Given the description of an element on the screen output the (x, y) to click on. 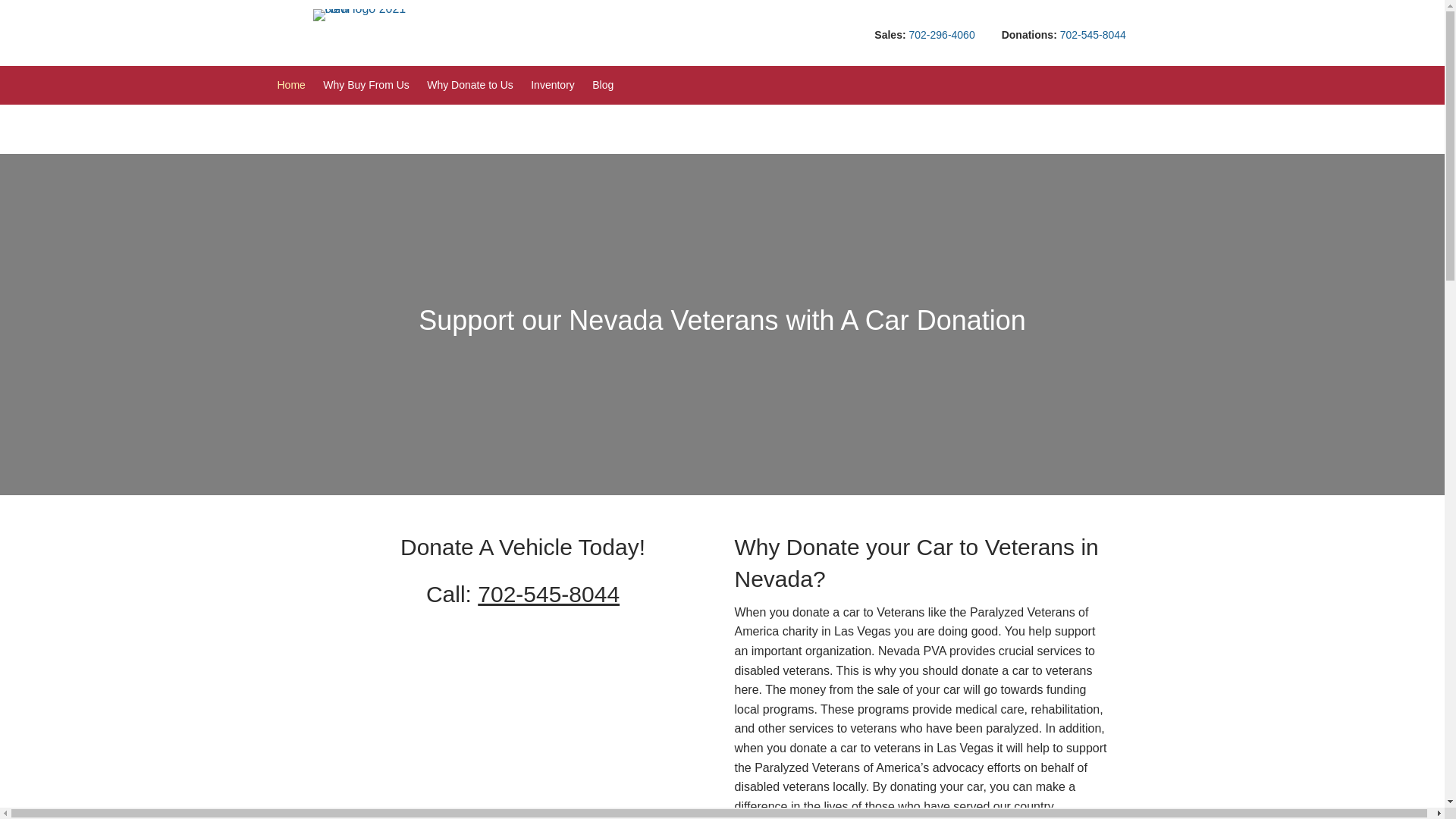
702-545-8044 (1092, 34)
Inventory (561, 85)
New logo 2021 color (366, 15)
702-296-4060 (941, 34)
Blog (611, 85)
Why Buy From Us (374, 85)
Why Donate to Us (477, 85)
Home (300, 85)
